Given the description of an element on the screen output the (x, y) to click on. 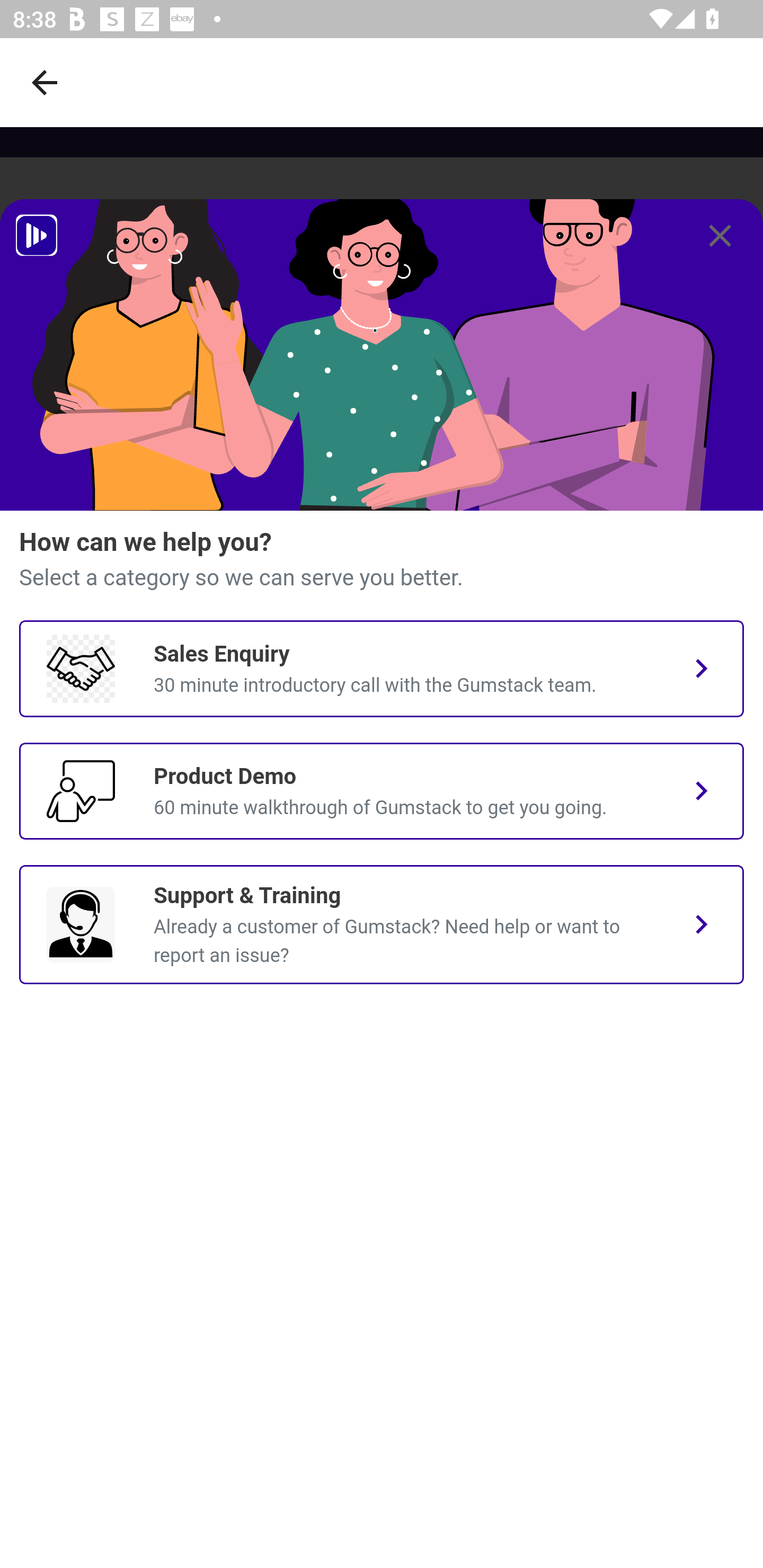
Navigate up (44, 82)
clear (720, 235)
